Given the description of an element on the screen output the (x, y) to click on. 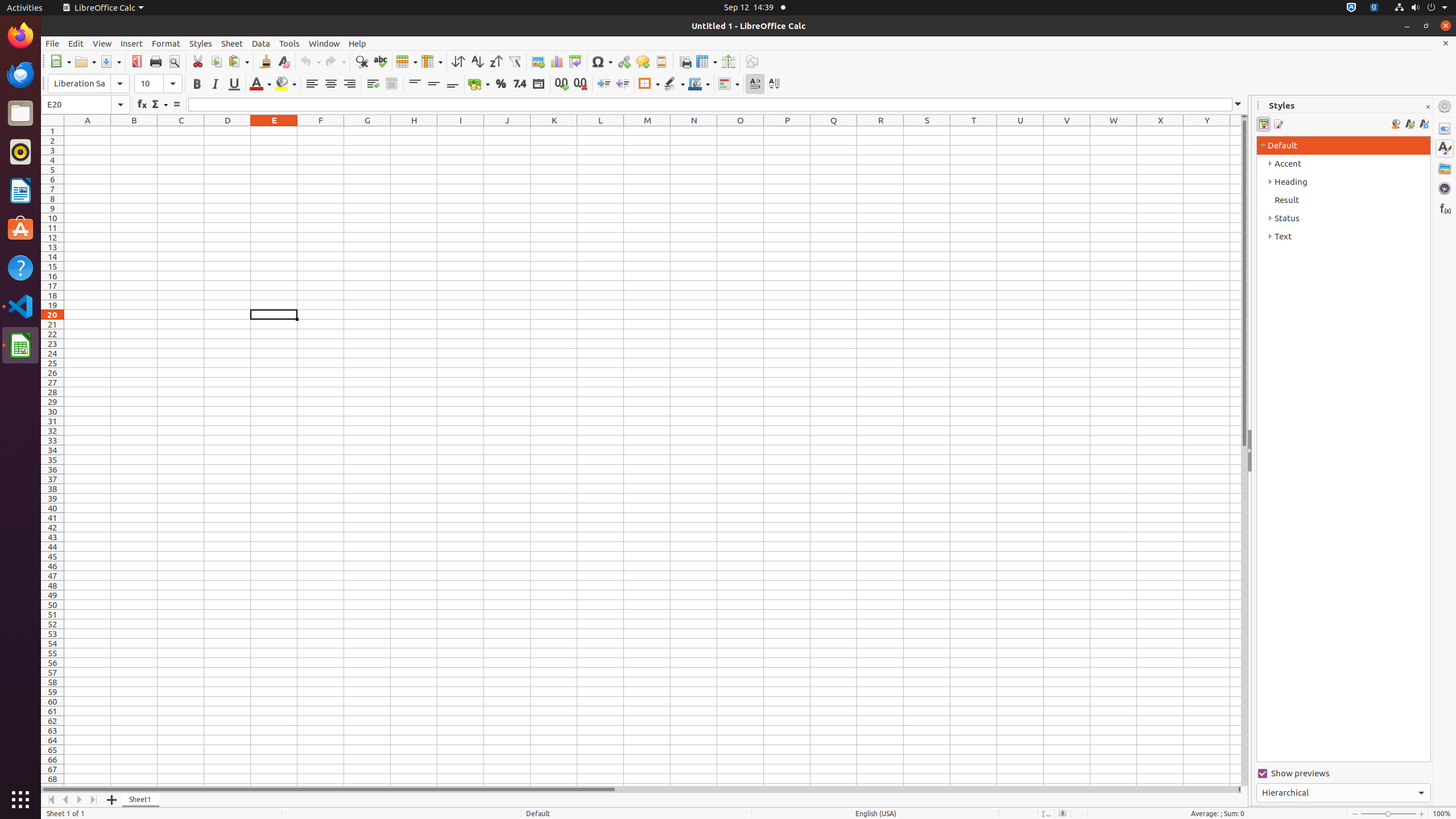
Sheet Element type: menu (231, 43)
Sort Descending Element type: push-button (495, 61)
Align Right Element type: push-button (349, 83)
Spelling Element type: push-button (379, 61)
Comment Element type: push-button (642, 61)
